Given the description of an element on the screen output the (x, y) to click on. 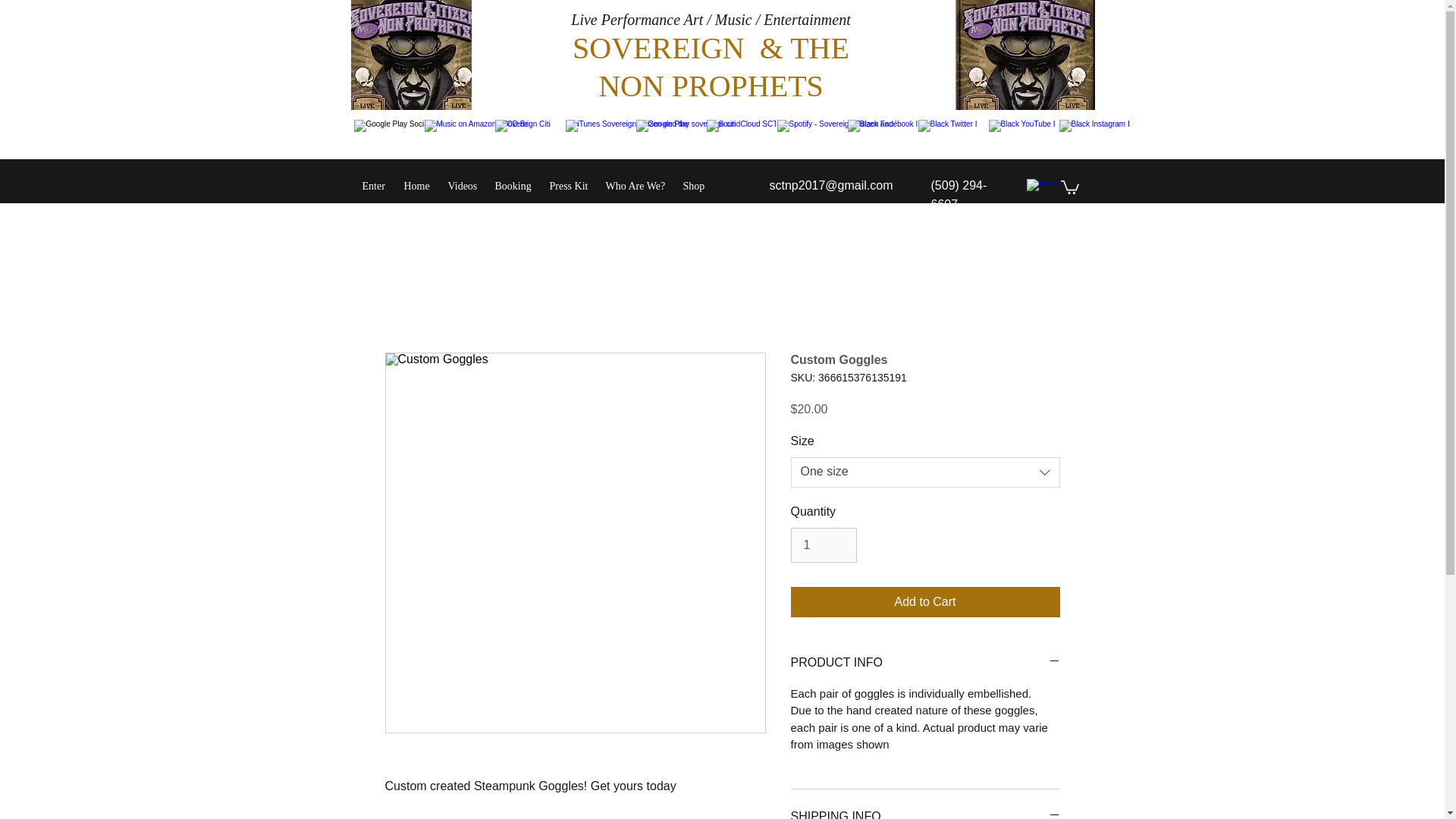
Home (417, 186)
Booking (513, 186)
Videos (462, 186)
Press Kit (568, 186)
Who Are We? (635, 186)
PRODUCT INFO (924, 662)
1 (823, 544)
Add to Cart (924, 602)
Shop (694, 186)
One size (924, 472)
